Given the description of an element on the screen output the (x, y) to click on. 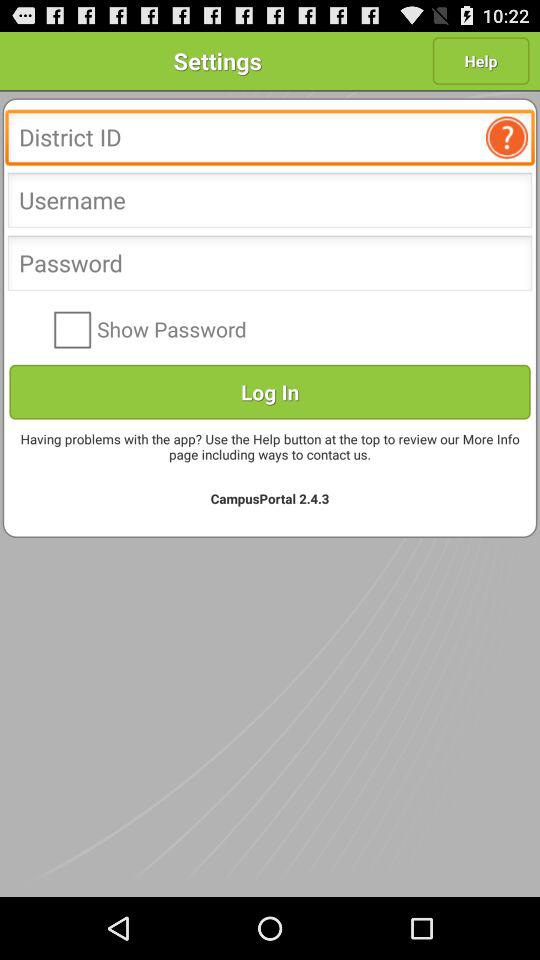
choose the campusportal 2 4 app (269, 498)
